Given the description of an element on the screen output the (x, y) to click on. 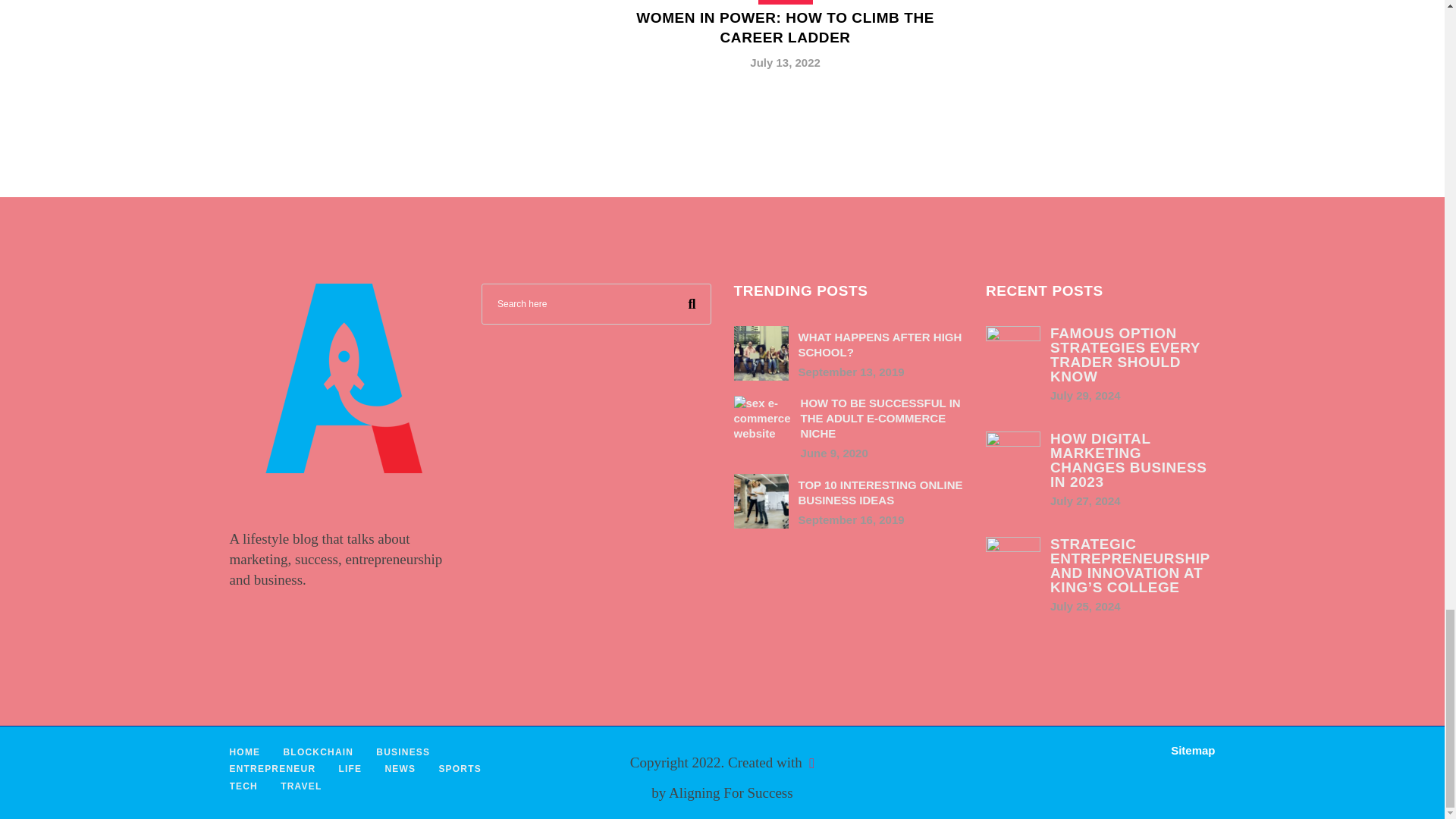
Women In Power: How To Climb The Career Ladder (784, 47)
Women In Power: How To Climb The Career Ladder (785, 27)
